Given the description of an element on the screen output the (x, y) to click on. 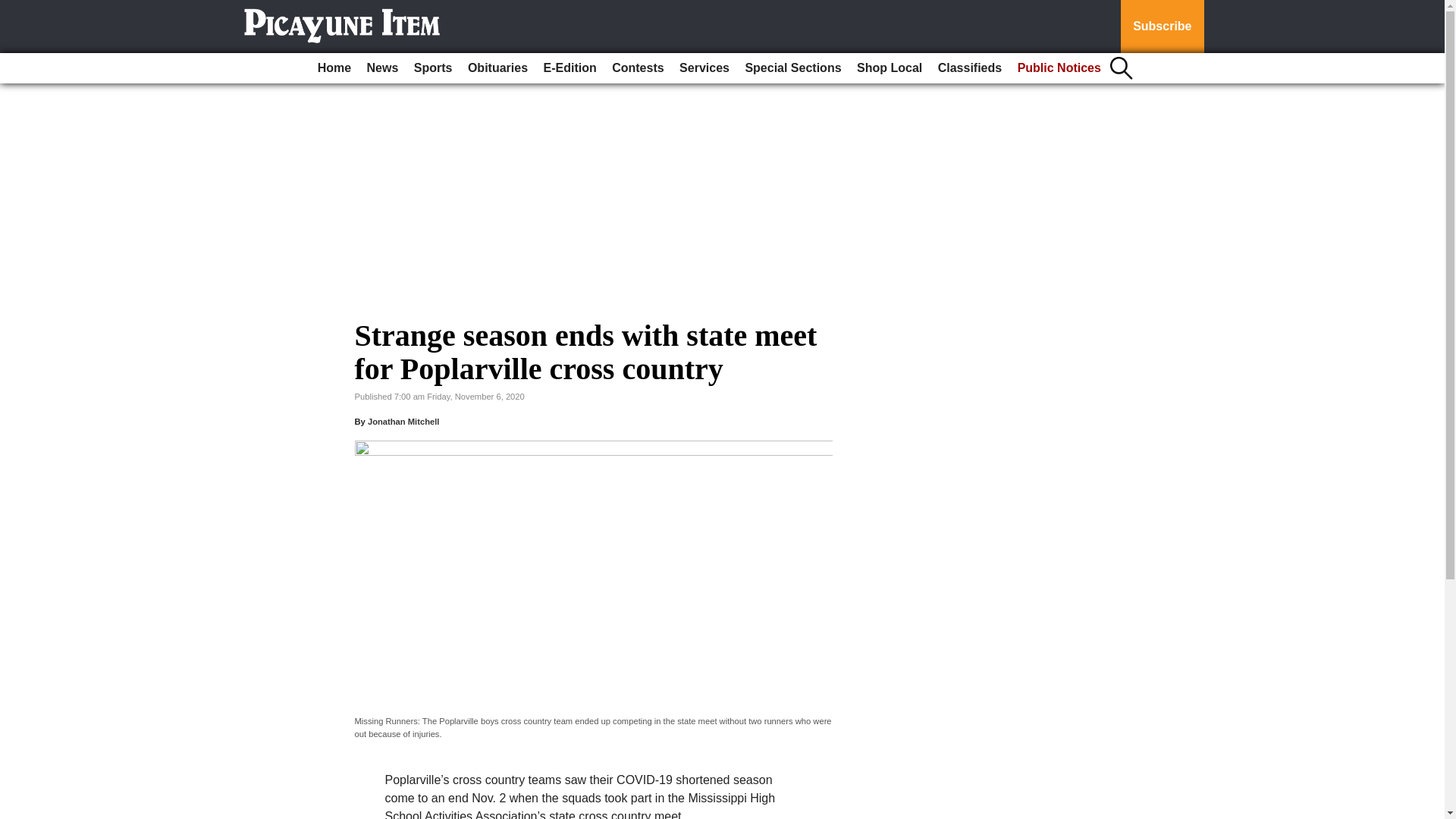
Subscribe (1162, 26)
Go (13, 9)
Shop Local (889, 68)
Jonathan Mitchell (403, 420)
Services (703, 68)
Obituaries (497, 68)
Contests (637, 68)
Public Notices (1058, 68)
News (382, 68)
E-Edition (569, 68)
